Given the description of an element on the screen output the (x, y) to click on. 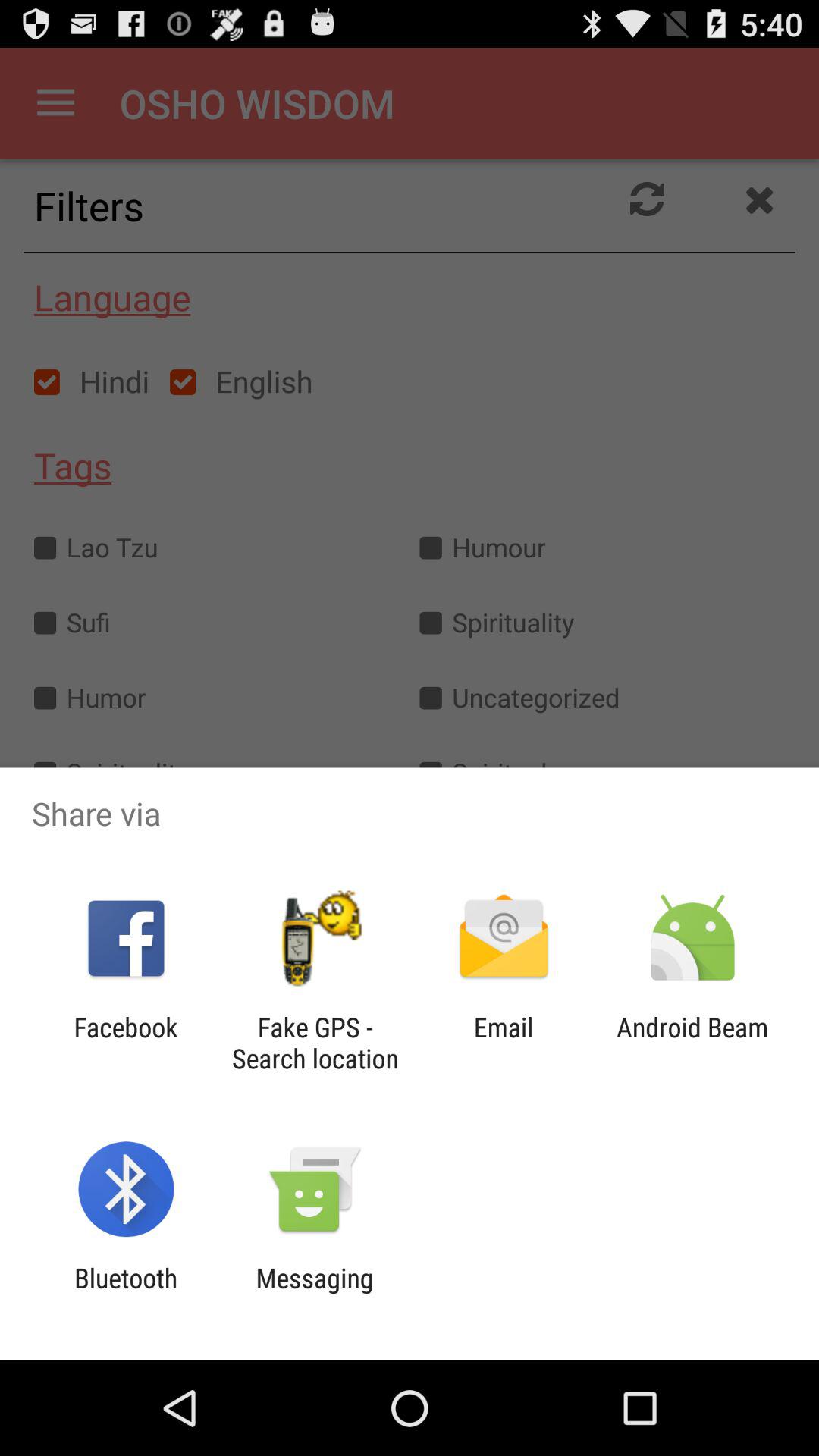
swipe until the email (503, 1042)
